Given the description of an element on the screen output the (x, y) to click on. 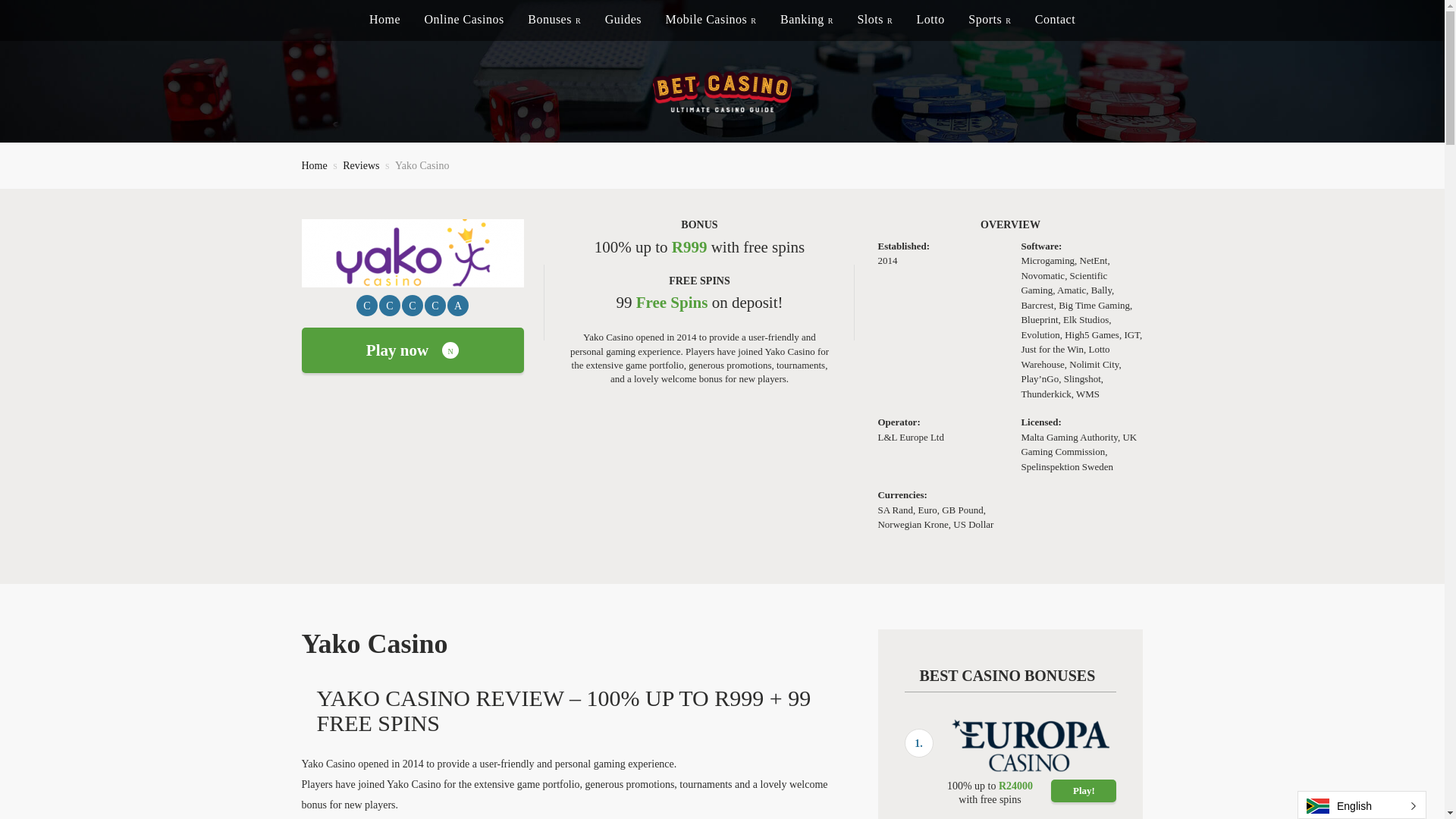
Reviews (360, 165)
Yako Casino (421, 165)
Home (314, 165)
